Given the description of an element on the screen output the (x, y) to click on. 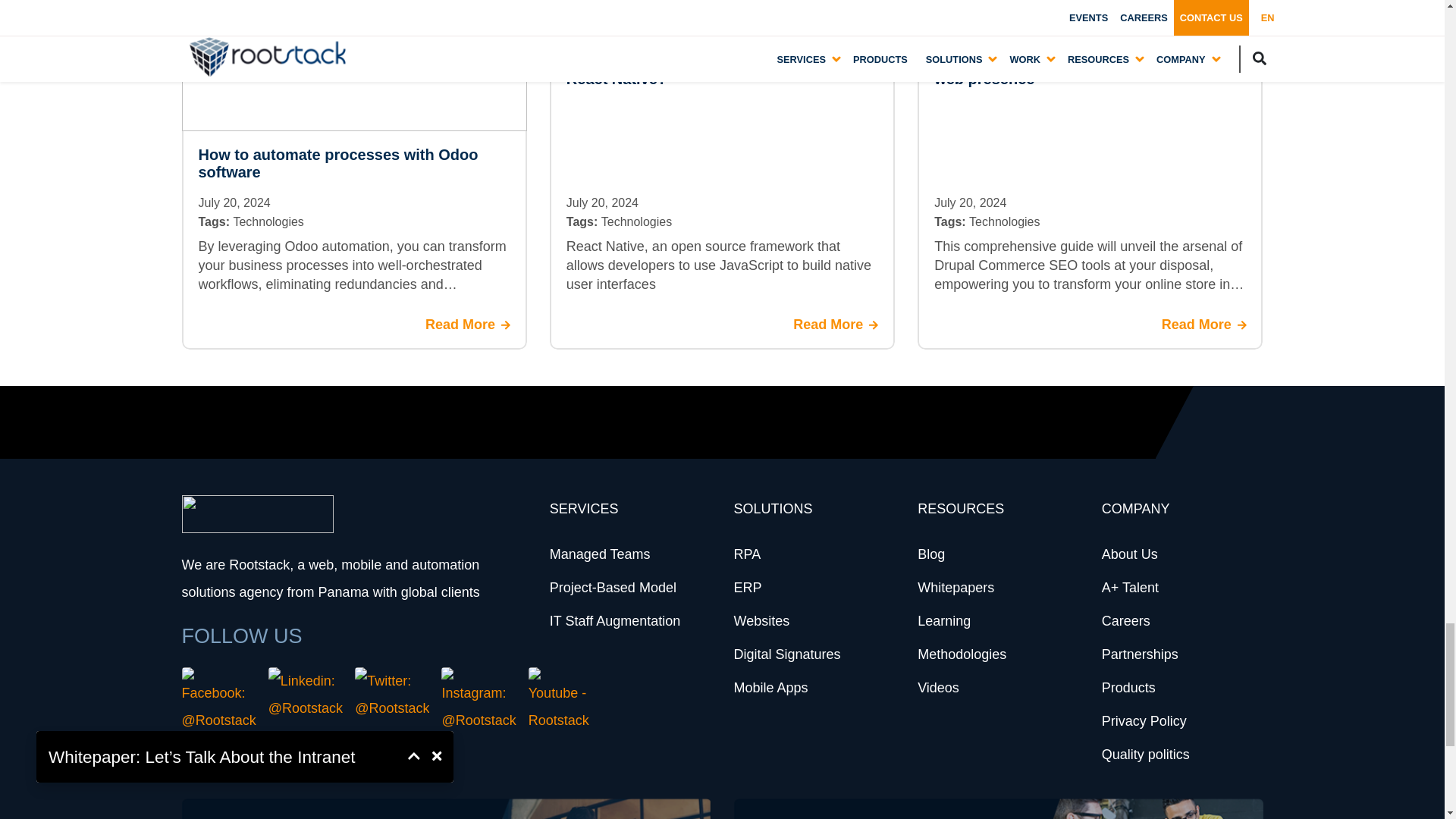
Project-Based Model (613, 587)
Read More (468, 324)
Youtube - Rootstack (558, 700)
Read More (1203, 324)
IT Staff Augmentation (614, 620)
Managed Teams (600, 554)
next.js (575, 23)
ERP (747, 587)
ecommerce (959, 23)
RPA (746, 554)
Read More (835, 324)
Youtube - Rootstack (558, 700)
